Given the description of an element on the screen output the (x, y) to click on. 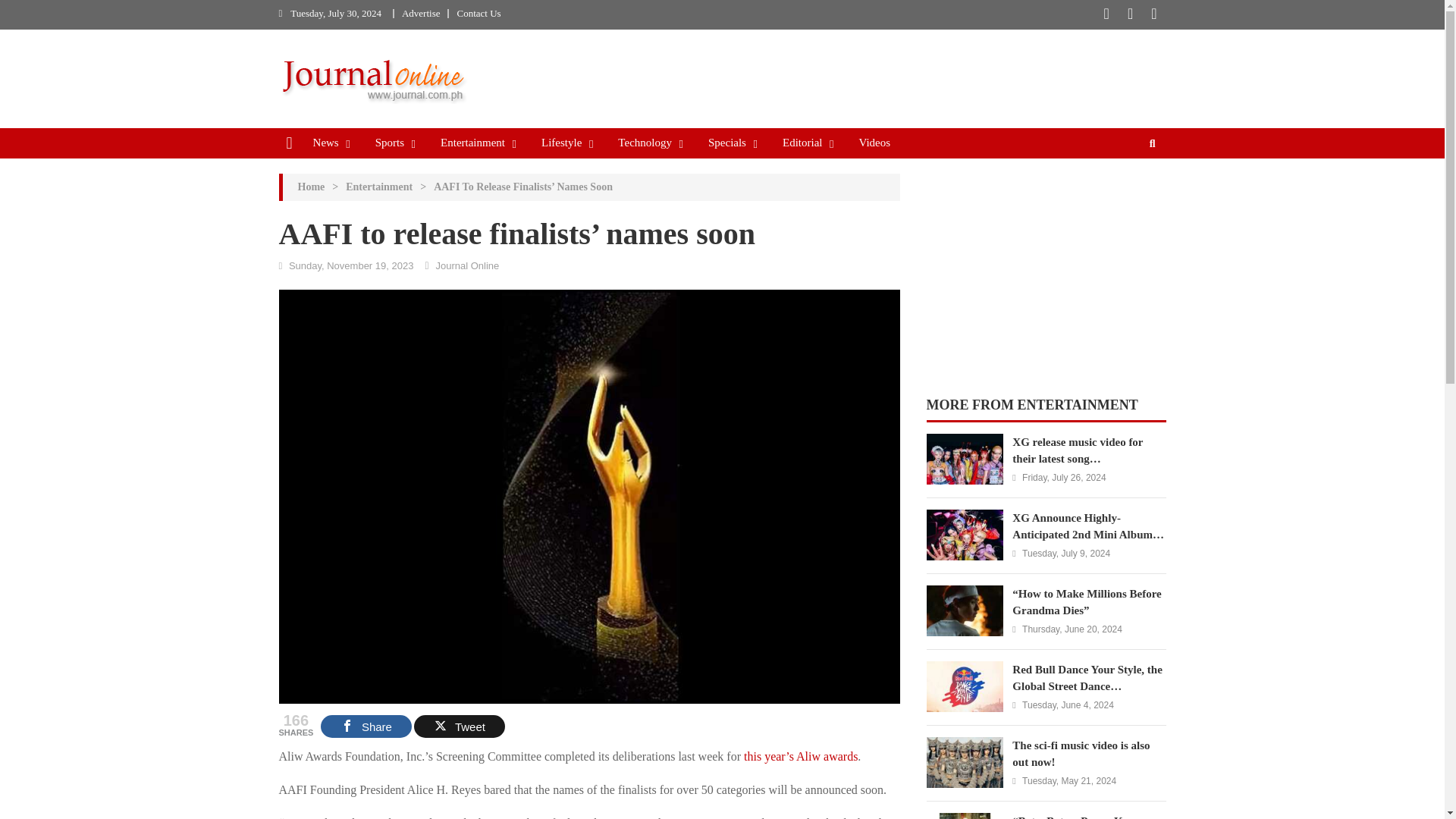
Sports (389, 141)
Advertise (421, 12)
Contact Us (478, 12)
Advertisement (1046, 267)
News (325, 141)
Entertainment (472, 141)
Lifestyle (560, 141)
Technology (644, 141)
